Given the description of an element on the screen output the (x, y) to click on. 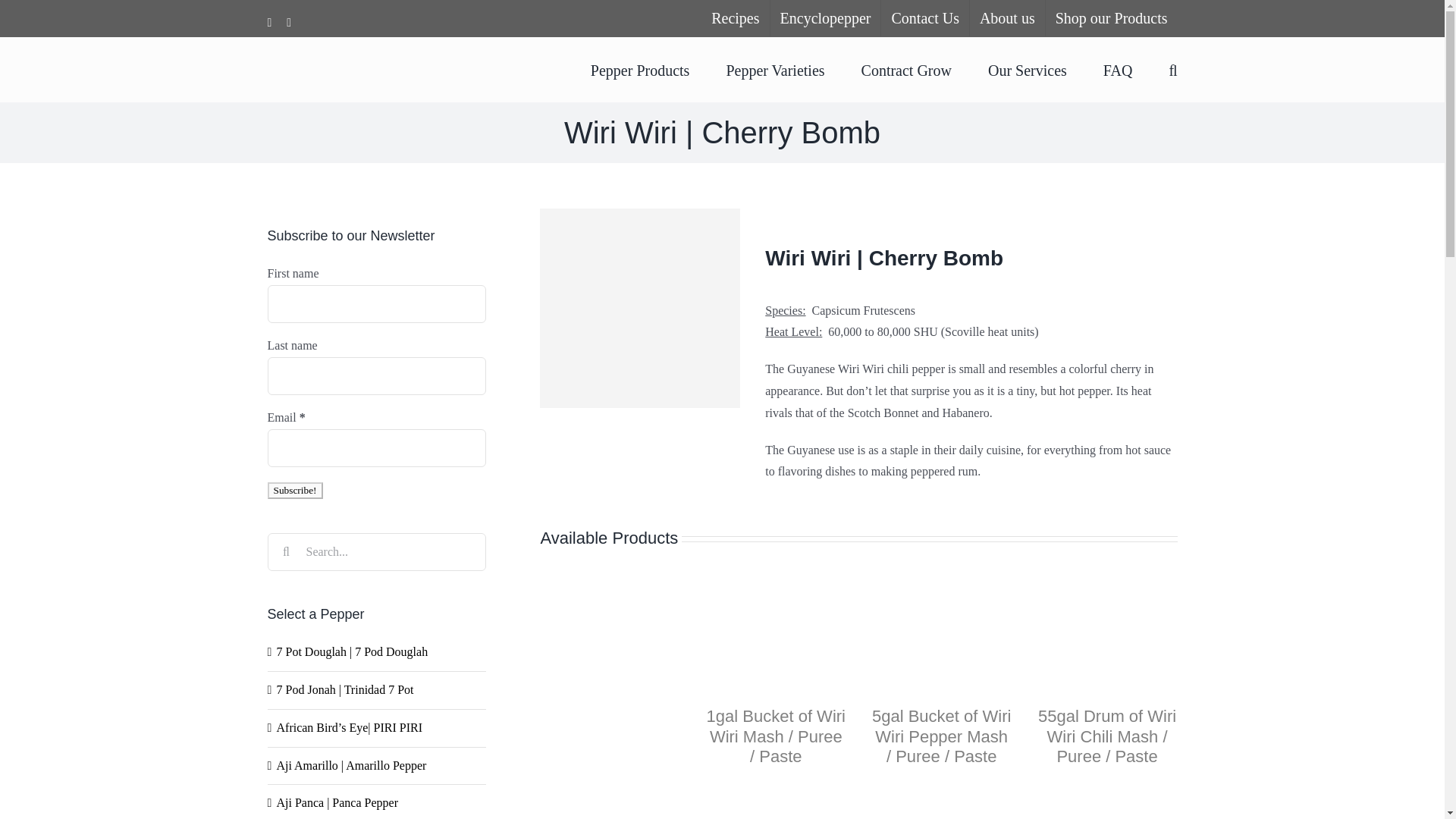
Encyclopepper (825, 18)
Recipes (734, 18)
About us (1007, 18)
Contract Grow (906, 68)
First name (375, 303)
Pepper Products (640, 68)
Pepper Varieties (774, 68)
Email (375, 447)
Our Services (1027, 68)
Contact Us (924, 18)
